Given the description of an element on the screen output the (x, y) to click on. 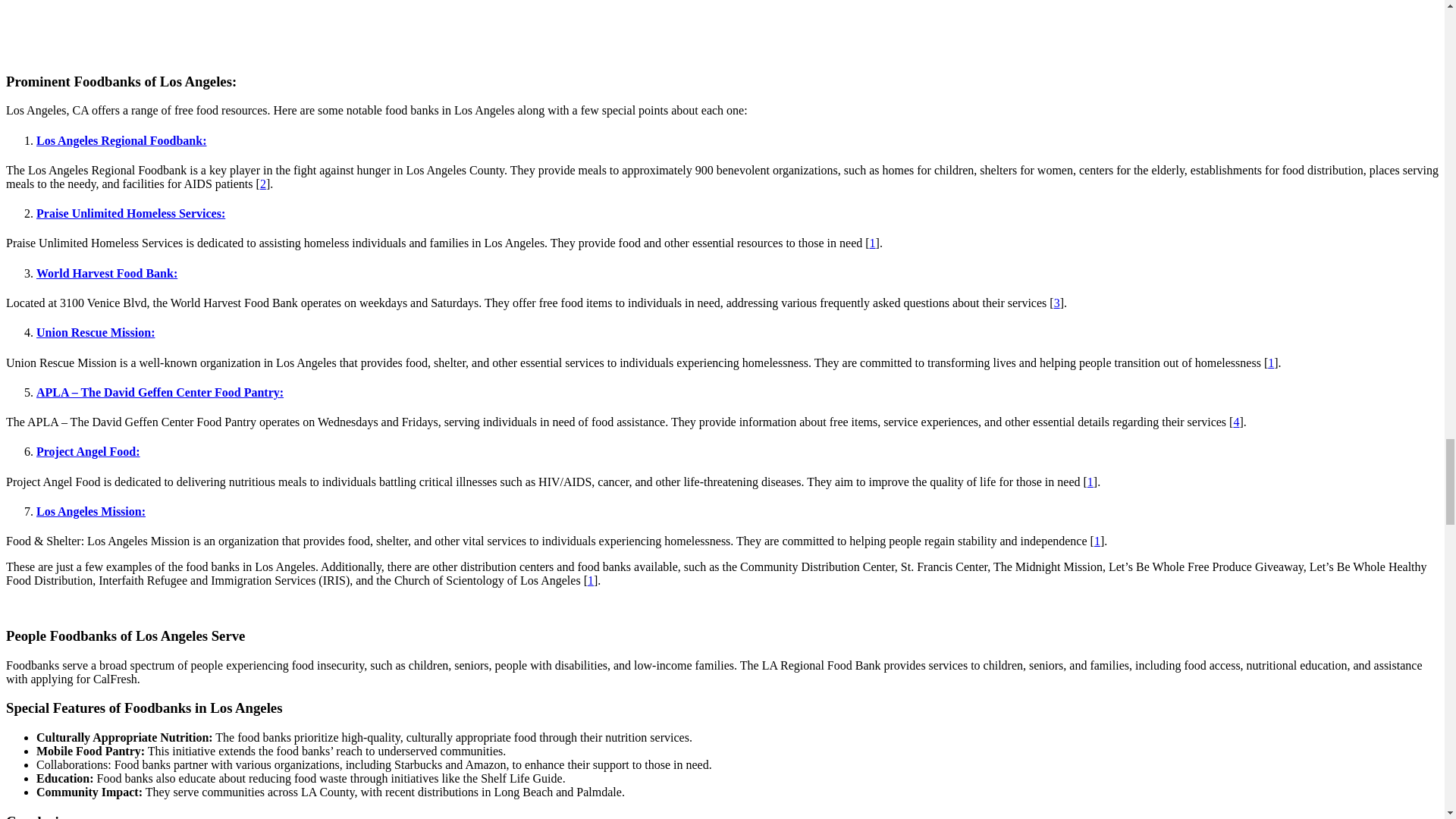
4 (1236, 421)
1 (1090, 481)
World Harvest Food Bank: (106, 273)
1 (872, 242)
3 (1056, 302)
Kim Cuc Receives What She Needs Thanks to Food Pantry (279, 15)
1 (1271, 362)
Project Angel Food: (87, 451)
Union Rescue Mission: (95, 332)
Praise Unlimited Homeless Services: (130, 213)
Los Angeles Mission: (90, 511)
Los Angeles Regional Foodbank: (121, 140)
2 (263, 183)
